Given the description of an element on the screen output the (x, y) to click on. 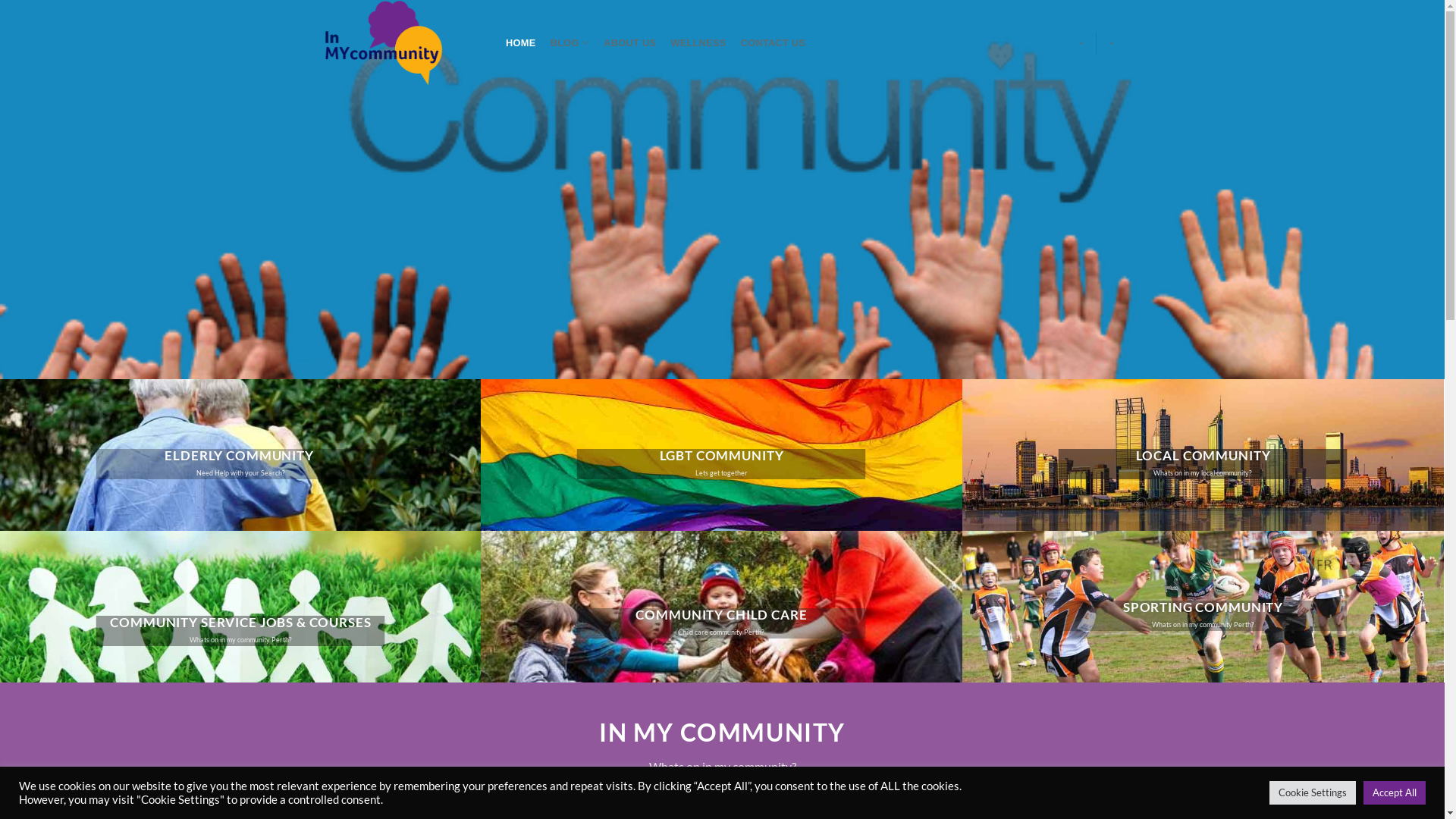
CONTACT US Element type: text (772, 42)
HOME Element type: text (520, 42)
ABOUT US Element type: text (629, 42)
BLOG Element type: text (569, 42)
In My Community, Connecting Australia. - Community Directory Element type: hover (400, 42)
- Element type: text (1111, 42)
- Element type: text (1081, 42)
Cookie Settings Element type: text (1312, 792)
WELLNESS Element type: text (698, 42)
Accept All Element type: text (1394, 792)
